Given the description of an element on the screen output the (x, y) to click on. 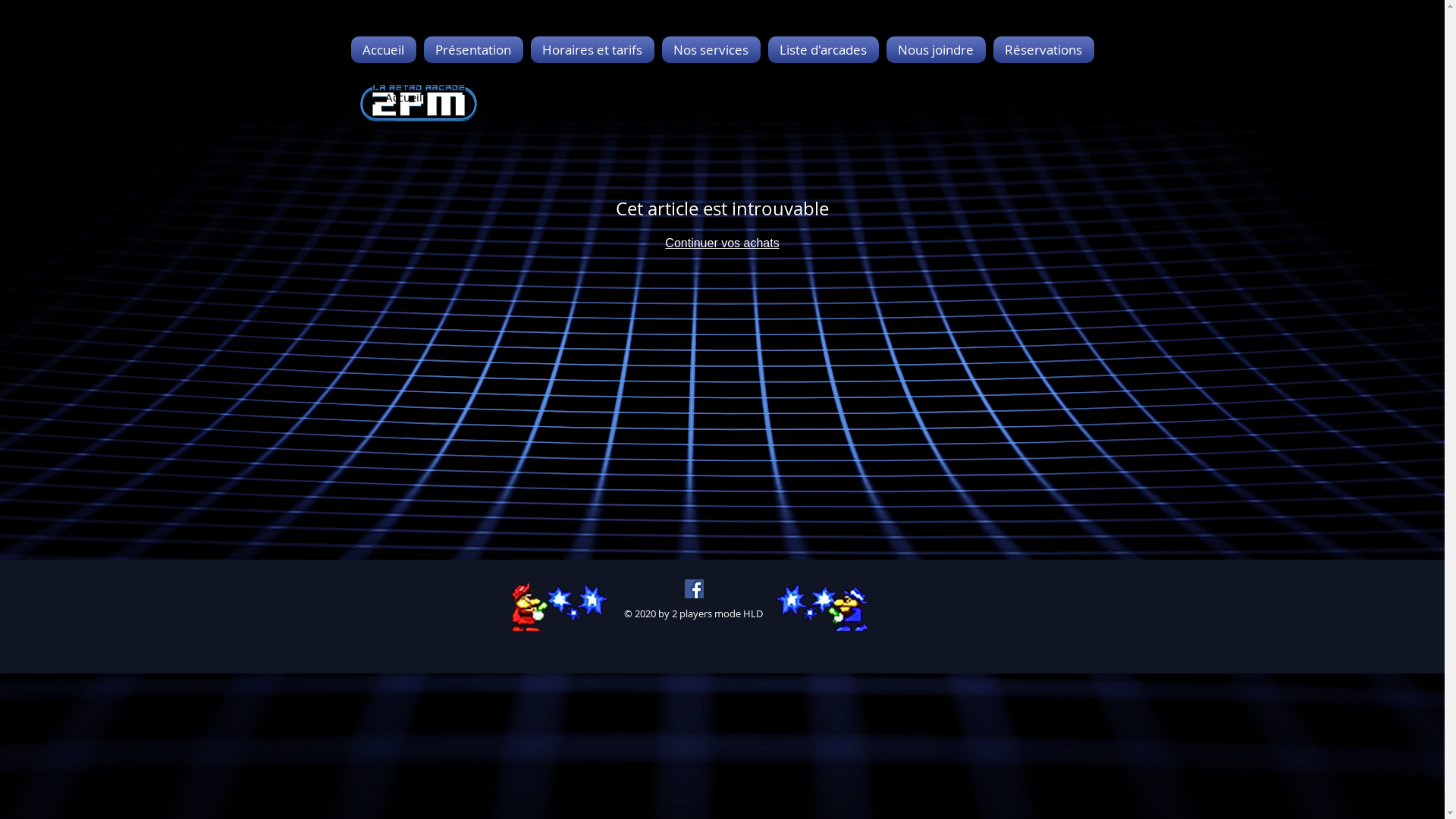
Continuer vos achats Element type: text (721, 242)
Accueil Element type: text (403, 96)
Liste d'arcades Element type: text (823, 49)
Nous joindre Element type: text (935, 49)
Horaires et tarifs Element type: text (591, 49)
Accueil Element type: text (384, 49)
Nos services Element type: text (711, 49)
